Given the description of an element on the screen output the (x, y) to click on. 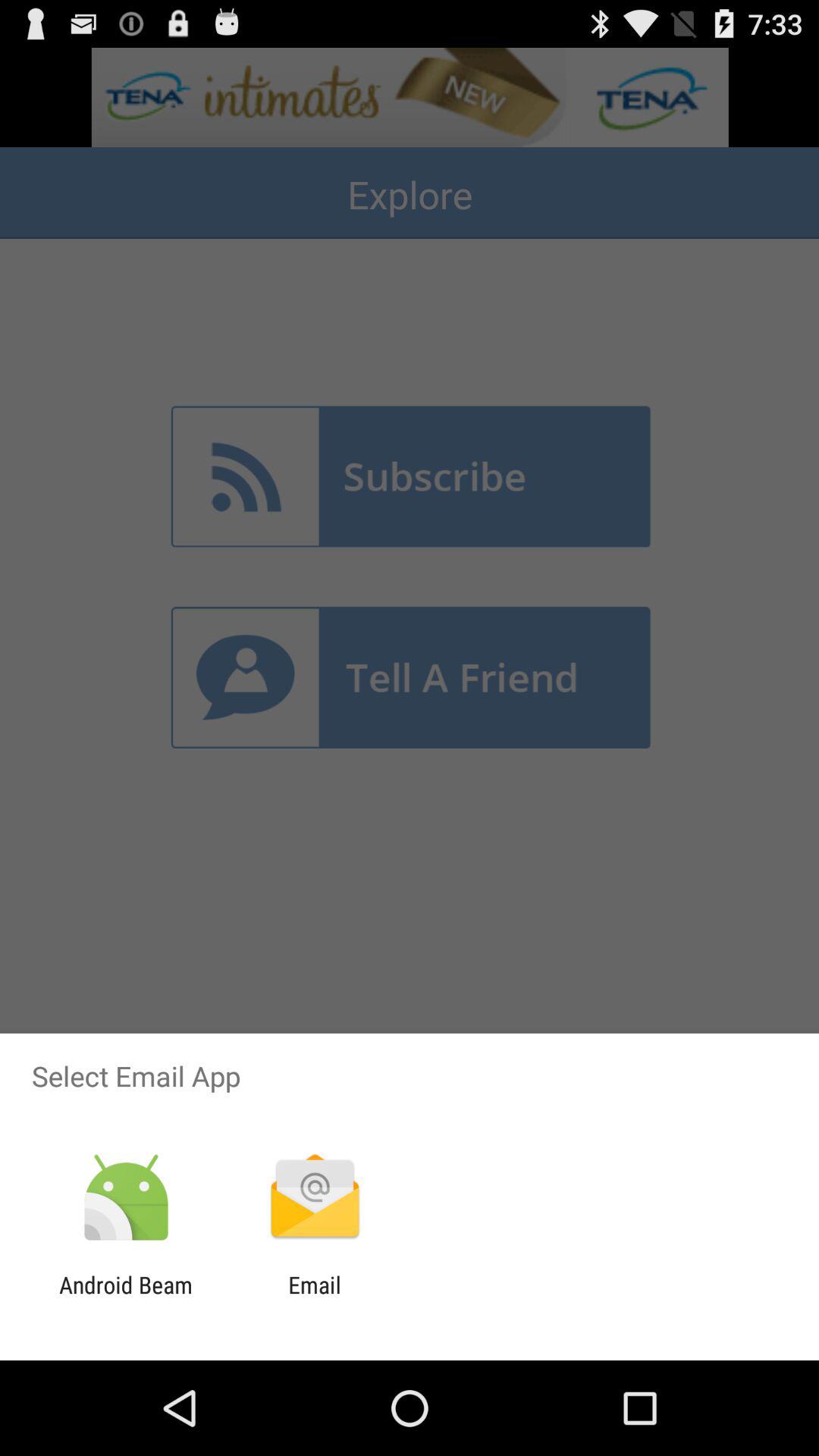
scroll until android beam item (125, 1298)
